Given the description of an element on the screen output the (x, y) to click on. 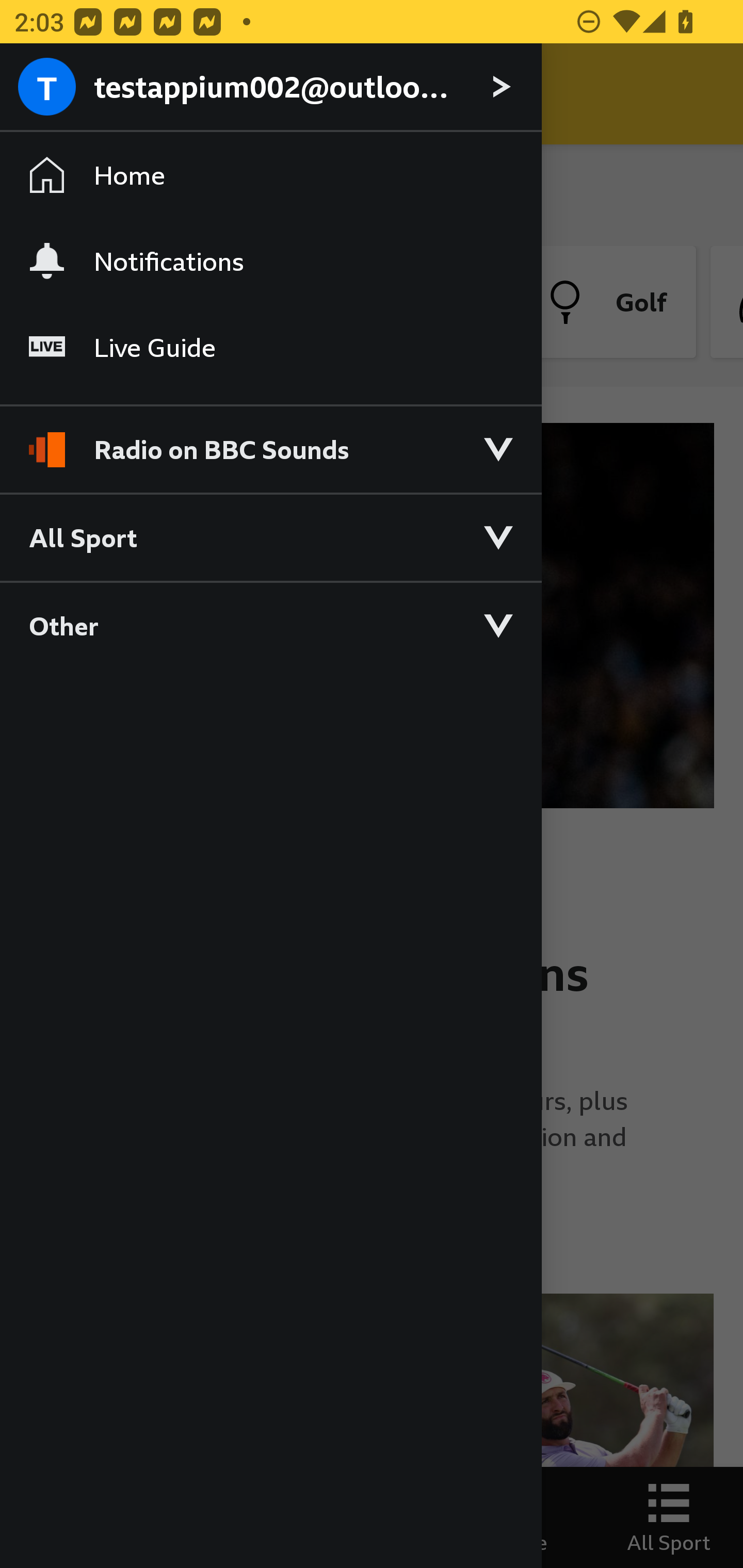
Close Menu (50, 93)
testappium002@outlook.com (270, 87)
Home (270, 174)
Notifications (270, 260)
Live Guide (270, 347)
Radio on BBC Sounds (270, 441)
All Sport (270, 536)
Other (270, 624)
